Given the description of an element on the screen output the (x, y) to click on. 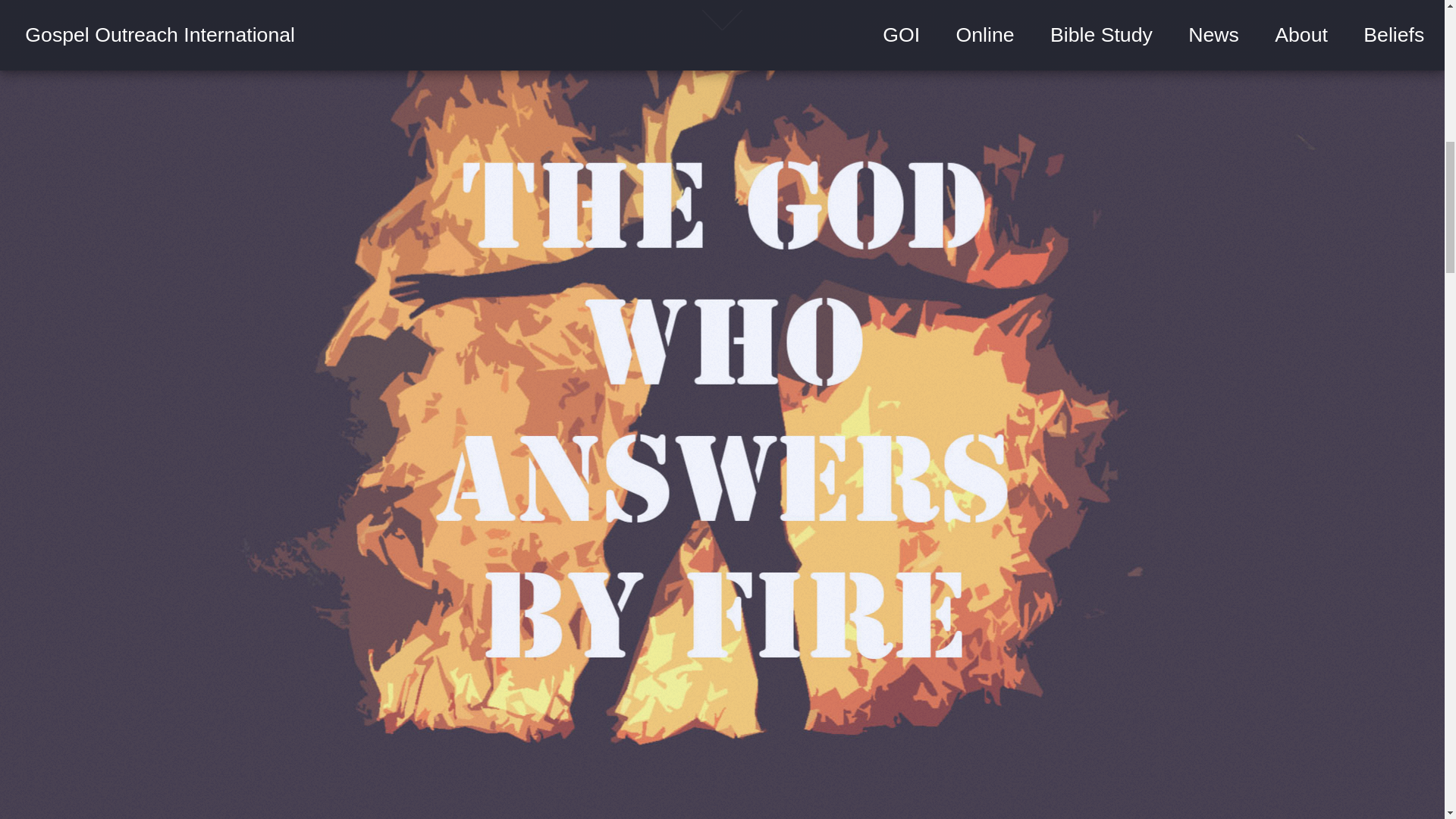
Next (722, 35)
Next (722, 35)
